Given the description of an element on the screen output the (x, y) to click on. 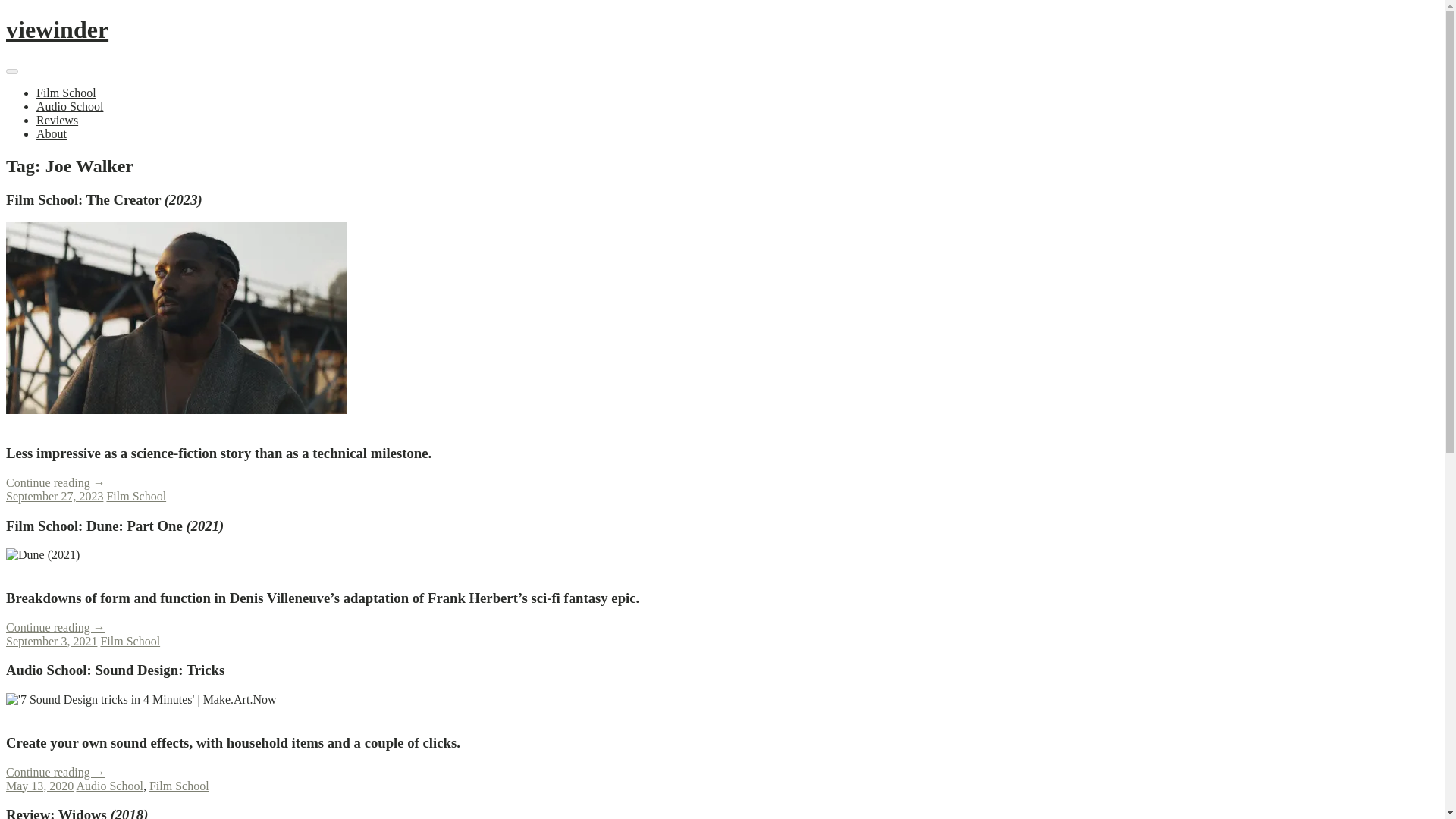
Audio School (69, 106)
May 13, 2020 (39, 785)
Reviews (57, 119)
Film School (130, 640)
viewinder (56, 29)
Menu (11, 70)
Audio School: Sound Design: Tricks (140, 699)
September 3, 2021 (51, 640)
Film School (66, 92)
